Given the description of an element on the screen output the (x, y) to click on. 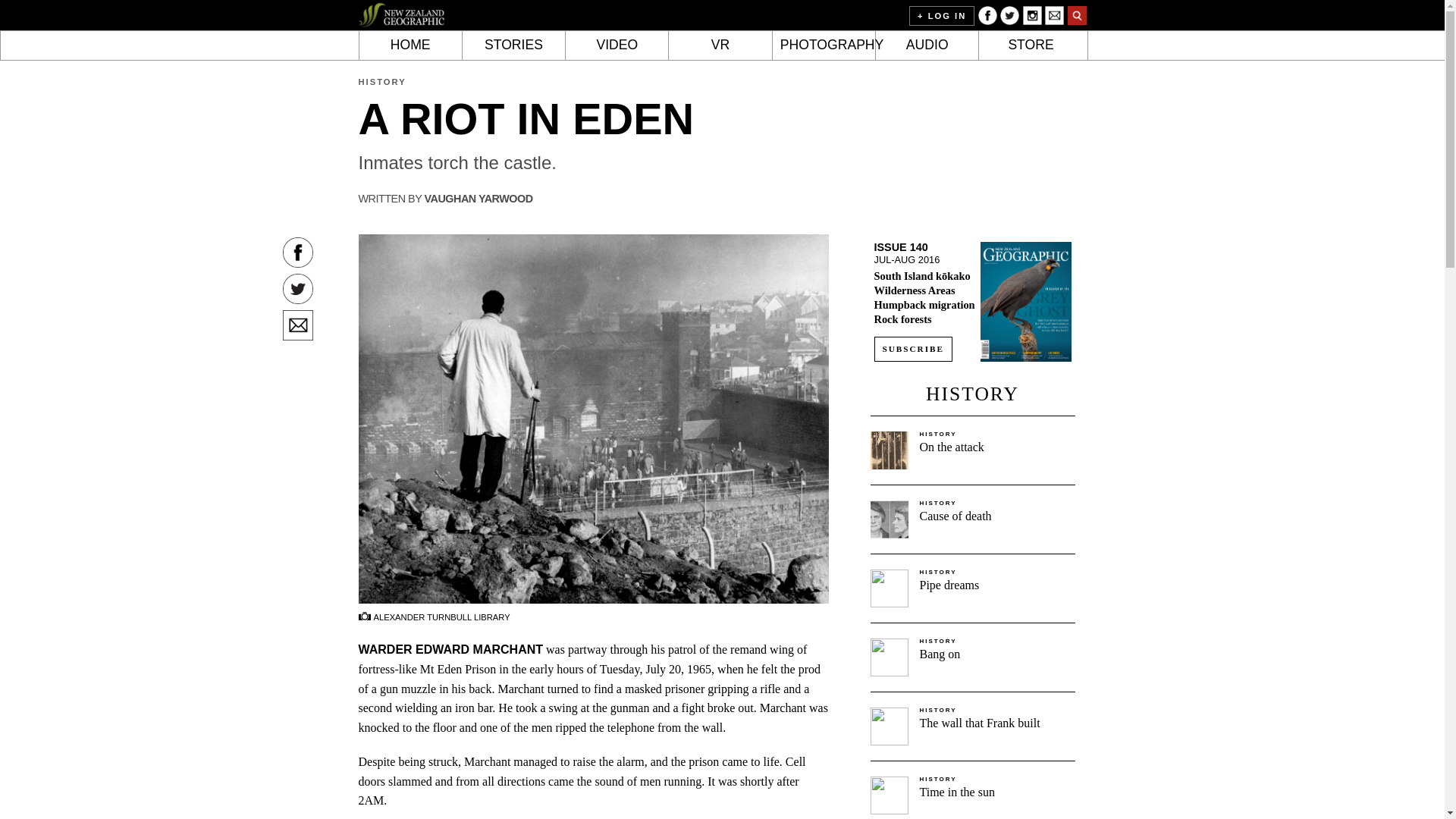
Cause of death (954, 515)
Posts by Vaughan Yarwood (477, 198)
HISTORY (382, 81)
STORE (1030, 45)
VIDEO (617, 45)
On the attack (951, 446)
HOME (410, 45)
VAUGHAN YARWOOD (477, 198)
VR (719, 45)
ISSUE 140 (900, 246)
HISTORY (937, 502)
SUBSCRIBE (912, 348)
AUDIO (927, 45)
STORIES (513, 45)
HISTORY (937, 433)
